Given the description of an element on the screen output the (x, y) to click on. 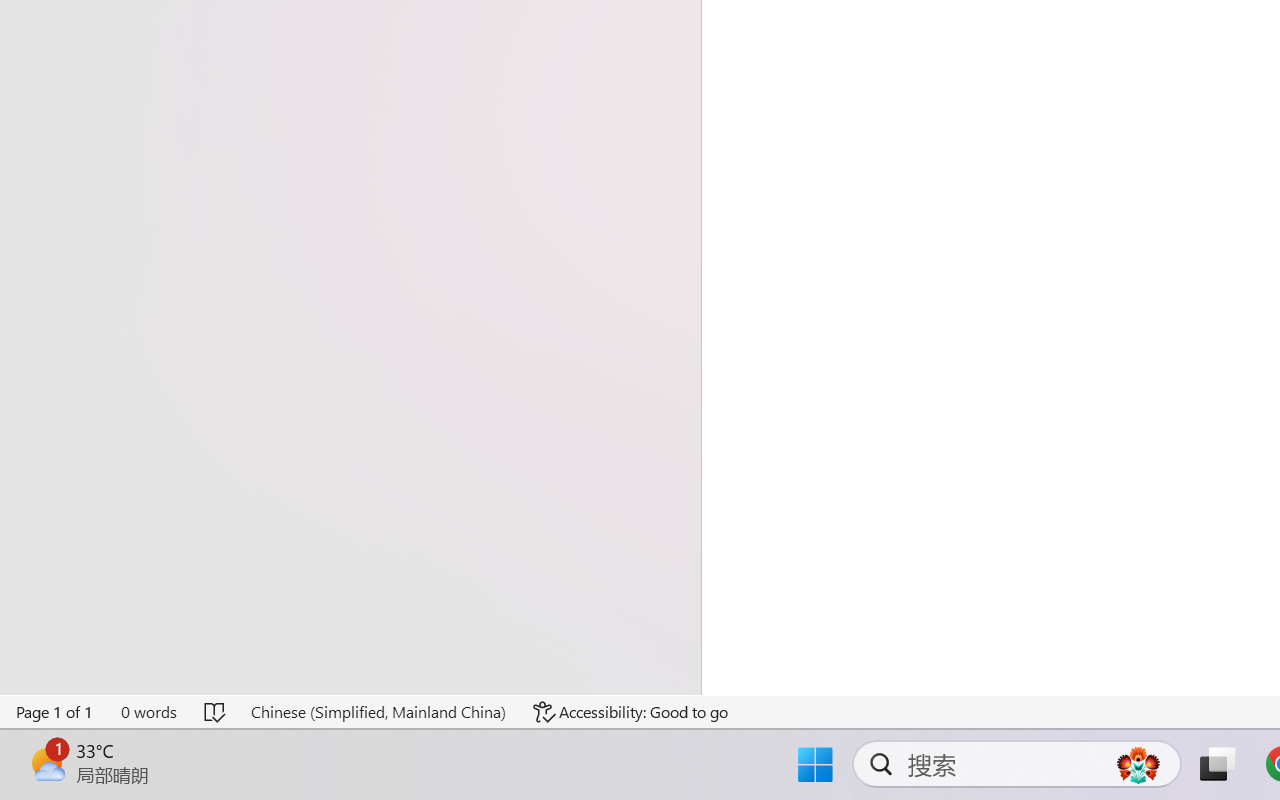
Language Chinese (Simplified, Mainland China) (378, 712)
